Given the description of an element on the screen output the (x, y) to click on. 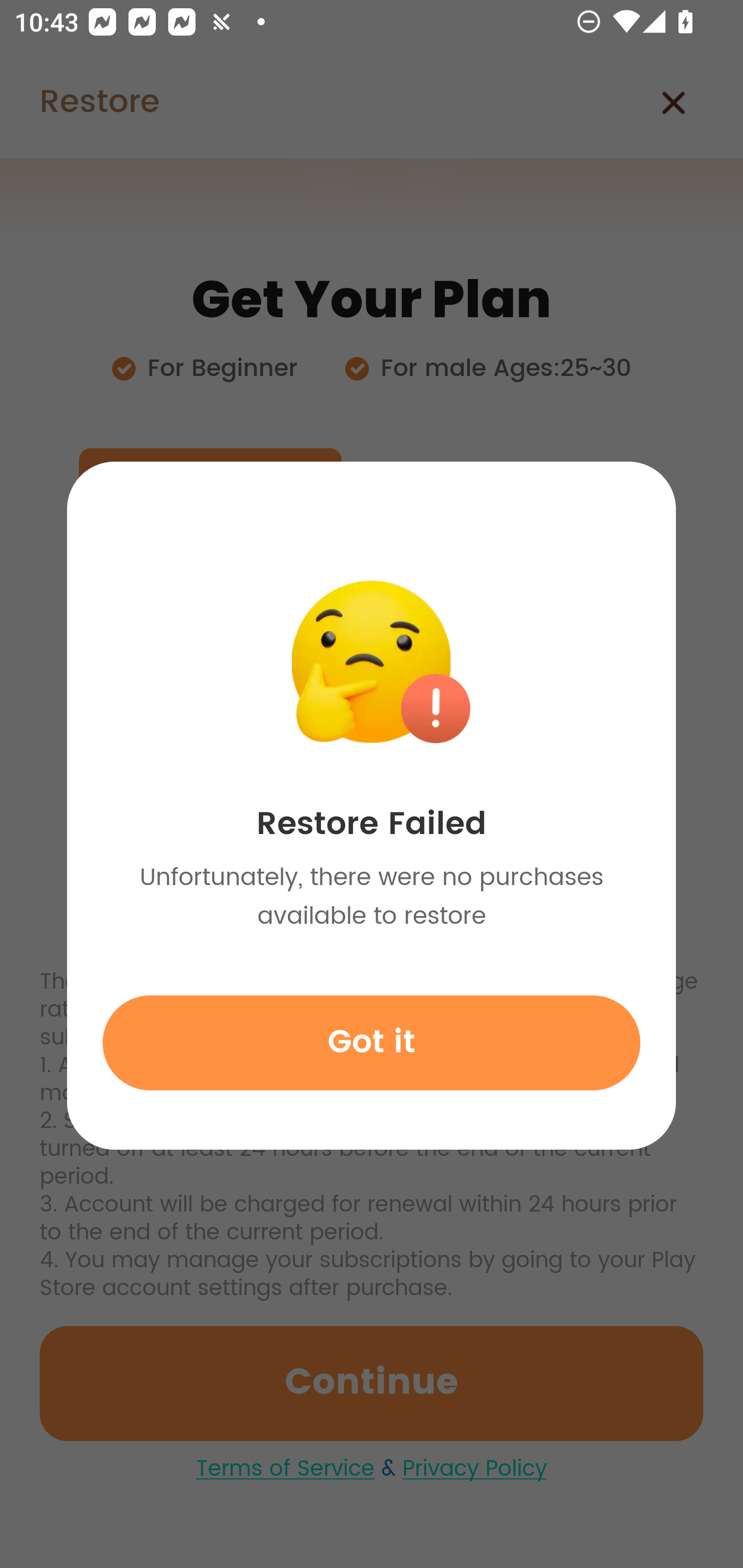
Got it (371, 1042)
